Given the description of an element on the screen output the (x, y) to click on. 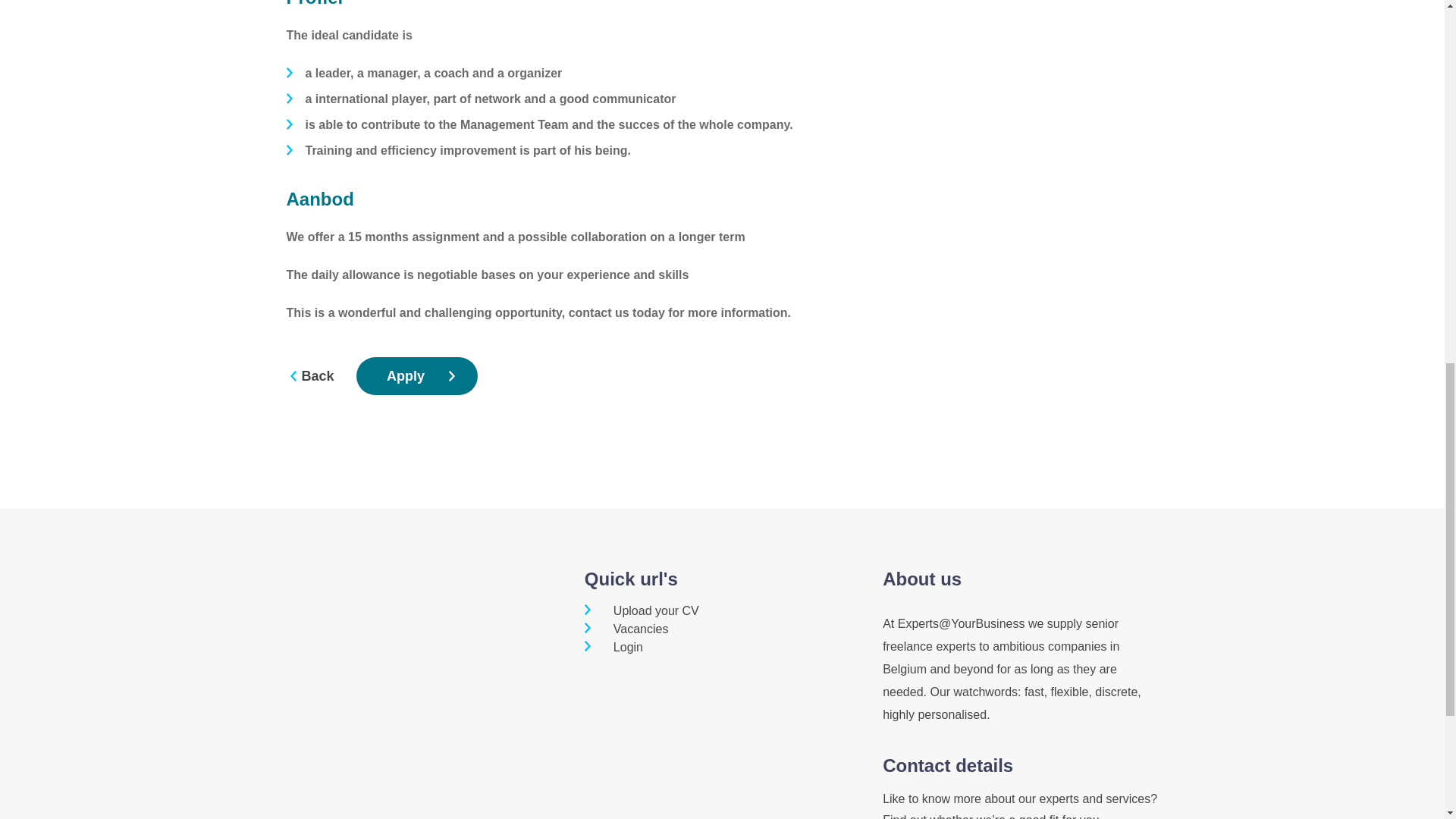
Apply (416, 375)
Quick url's (631, 578)
Login (614, 646)
Quick url's (631, 578)
Vacancies (626, 628)
Back (317, 375)
Upload your CV (641, 610)
